Given the description of an element on the screen output the (x, y) to click on. 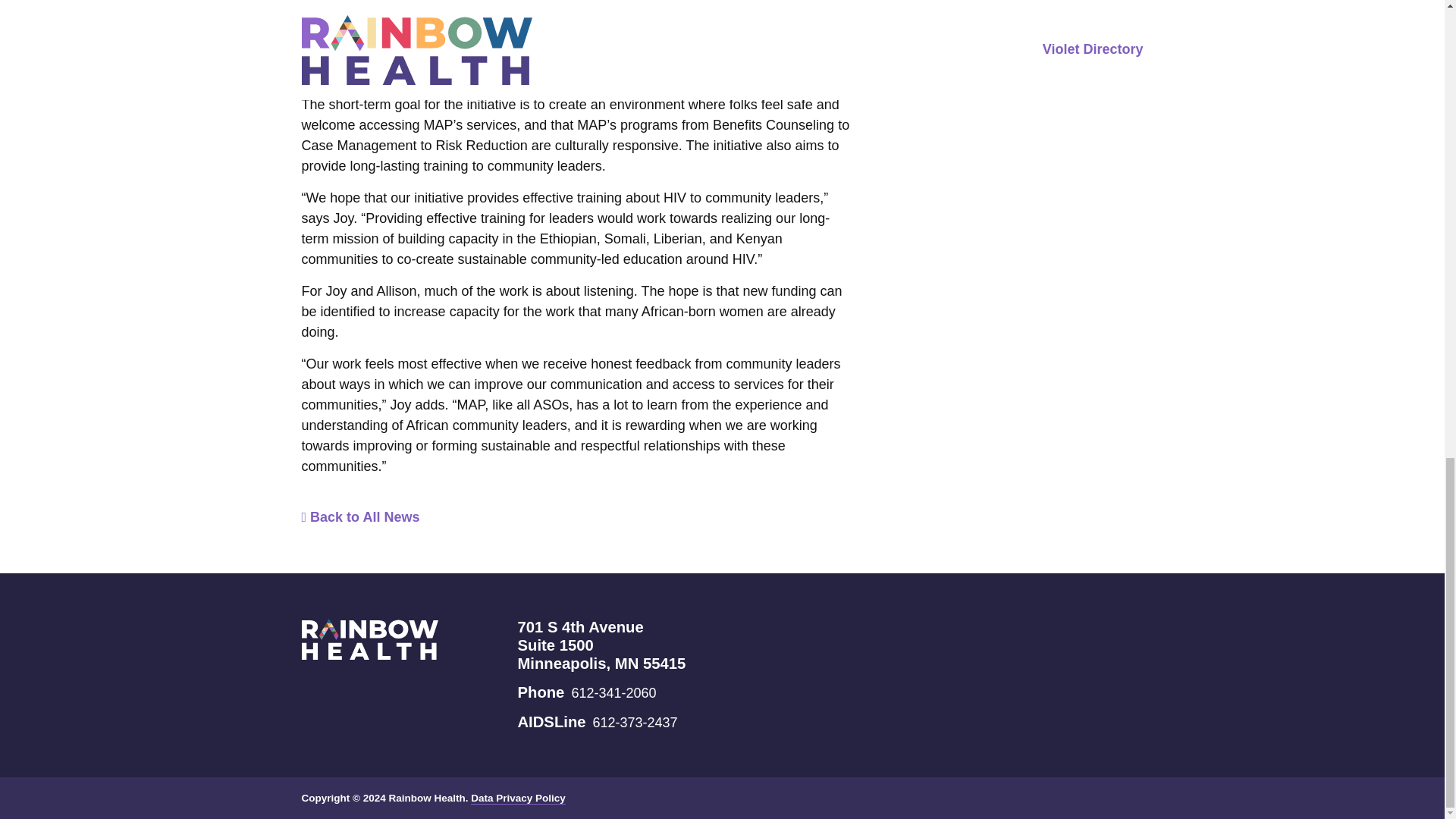
612-373-2437 (635, 722)
612-341-2060 (613, 693)
Data Privacy Policy (518, 797)
Back to All News (360, 516)
